Given the description of an element on the screen output the (x, y) to click on. 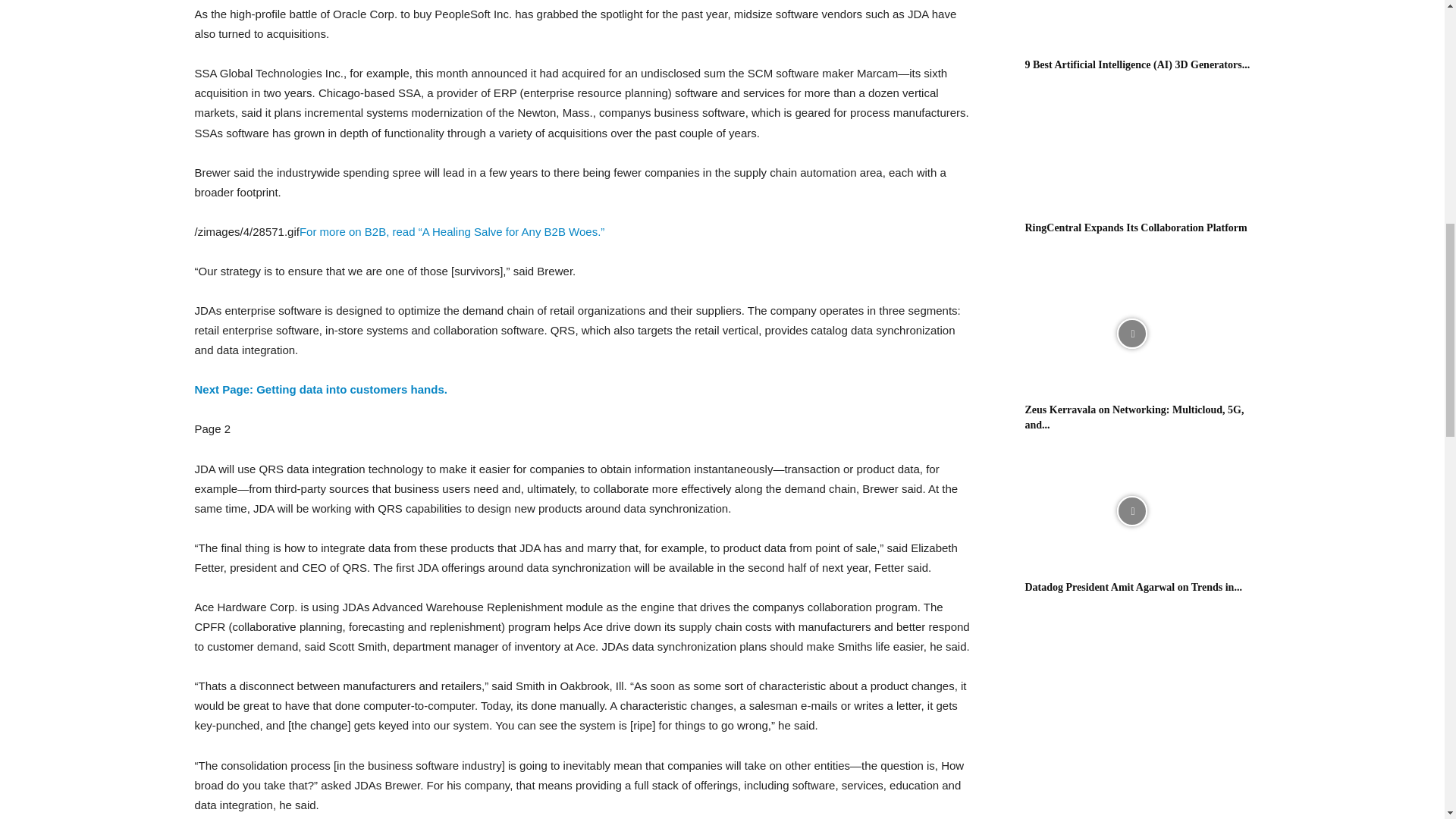
Zeus Kerravala on Networking: Multicloud, 5G, and Automation (1134, 417)
RingCentral Expands Its Collaboration Platform (1131, 151)
Zeus Kerravala on Networking: Multicloud, 5G, and Automation (1131, 333)
RingCentral Expands Its Collaboration Platform (1136, 227)
